Given the description of an element on the screen output the (x, y) to click on. 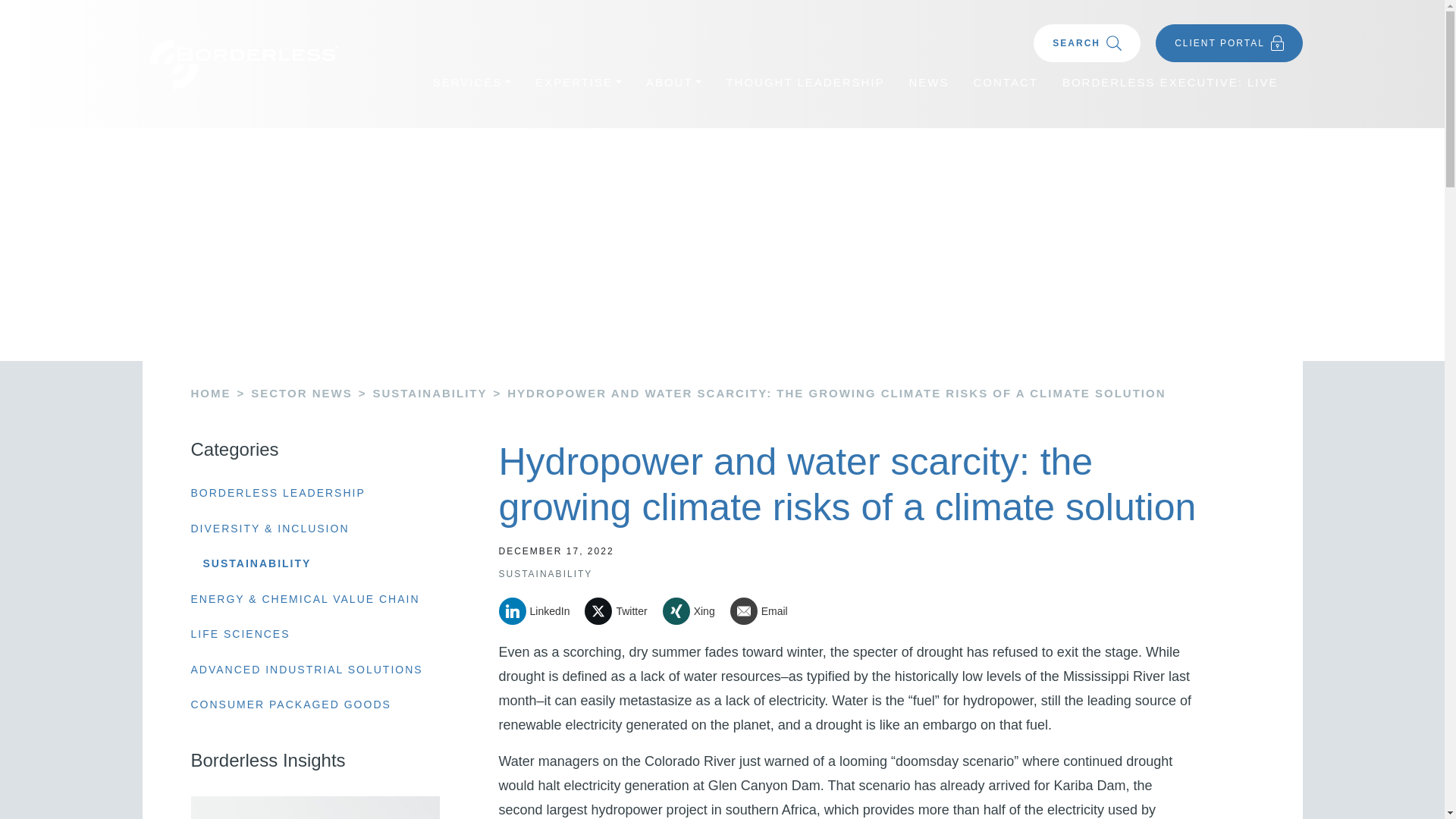
Twitter (621, 610)
Share on Email (764, 610)
CONTACT (1006, 82)
CLIENT PORTAL (1228, 43)
ADVANCED INDUSTRIAL SOLUTIONS (306, 669)
SUSTAINABILITY (257, 563)
Share on LinkedIn (539, 610)
SEARCH (1086, 43)
LIFE SCIENCES (239, 634)
ABOUT (673, 82)
